Given the description of an element on the screen output the (x, y) to click on. 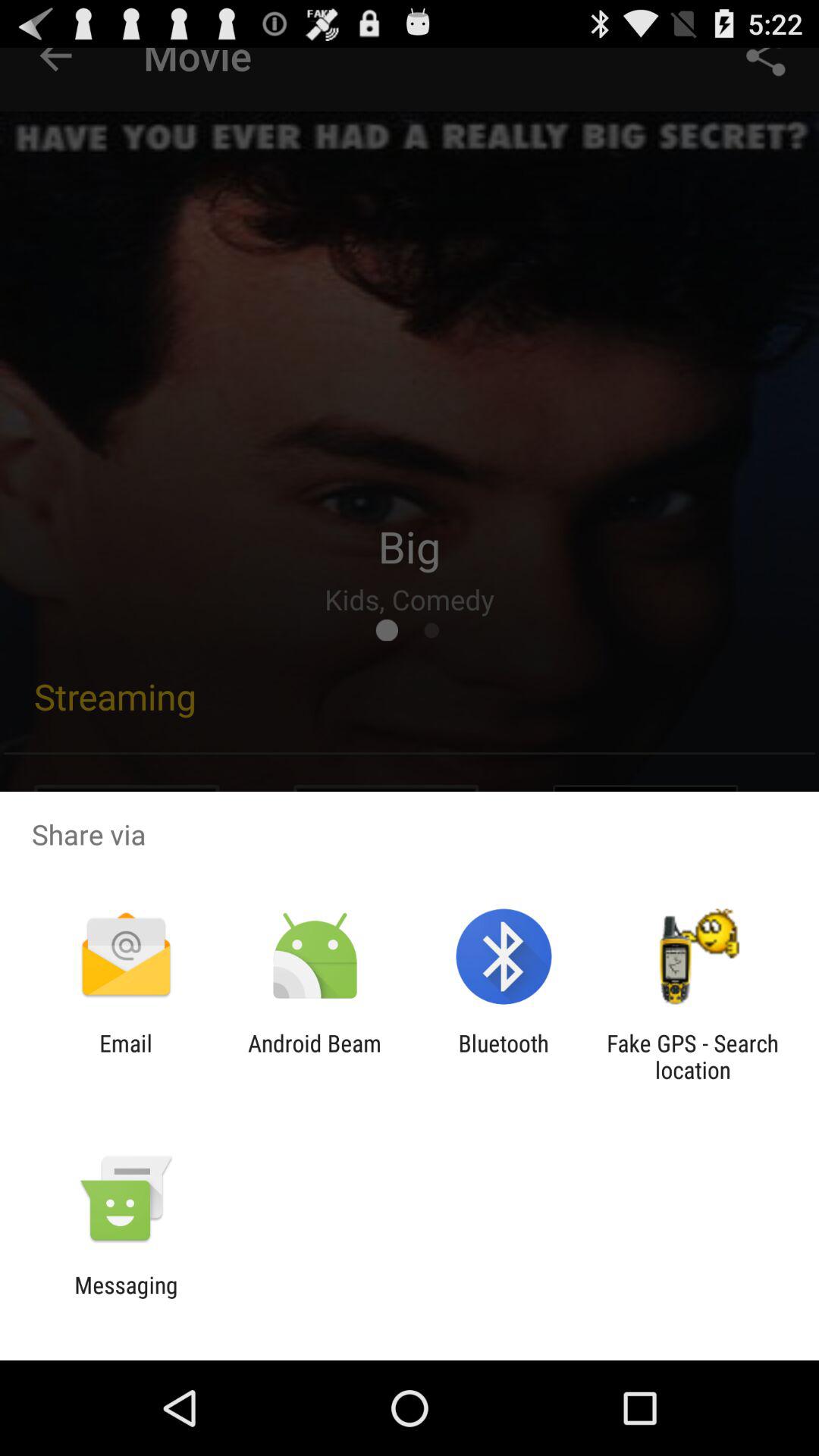
scroll to email item (125, 1056)
